Given the description of an element on the screen output the (x, y) to click on. 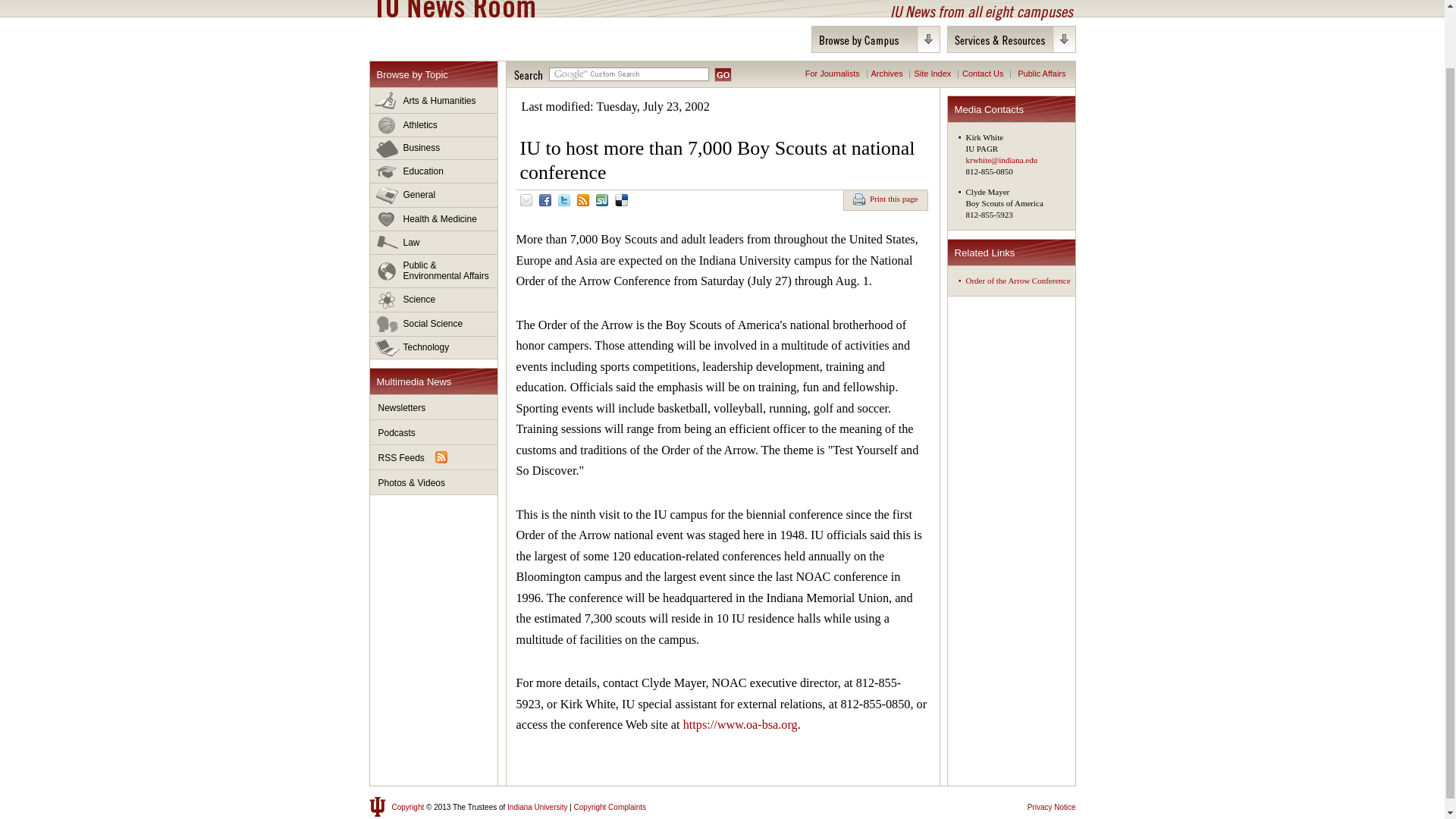
Science (433, 300)
RSS Feeds (433, 457)
Social Science (433, 324)
Athletics (433, 125)
Technology (433, 347)
Newsletters (433, 407)
Law (433, 242)
IU News Room (455, 8)
General (433, 195)
Business (433, 148)
